Given the description of an element on the screen output the (x, y) to click on. 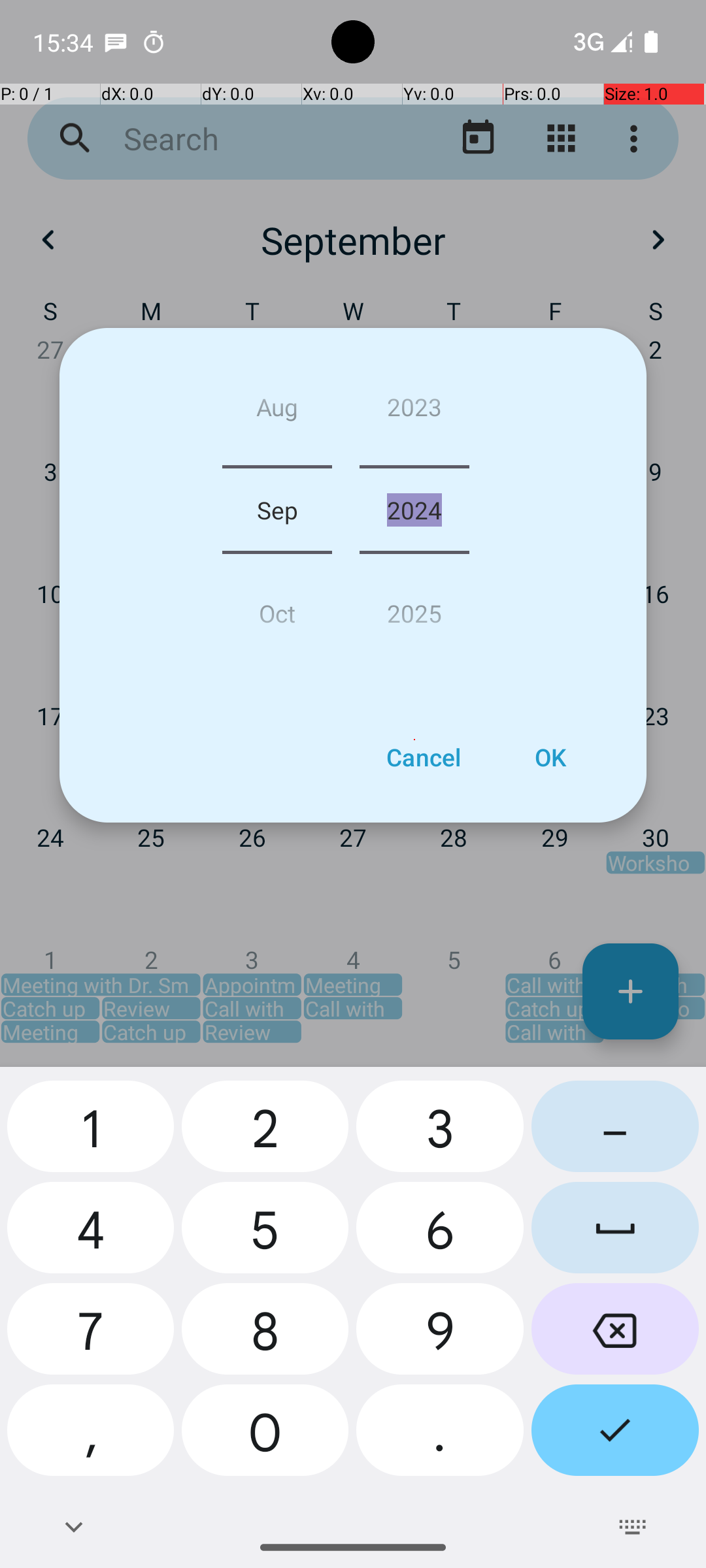
Aug Element type: android.widget.Button (277, 411)
